Given the description of an element on the screen output the (x, y) to click on. 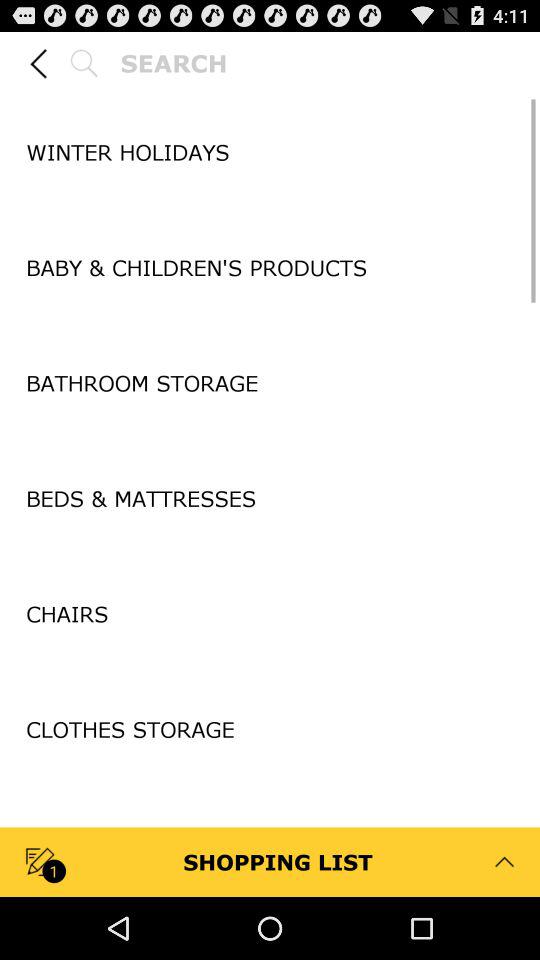
launch baby children s (270, 267)
